Given the description of an element on the screen output the (x, y) to click on. 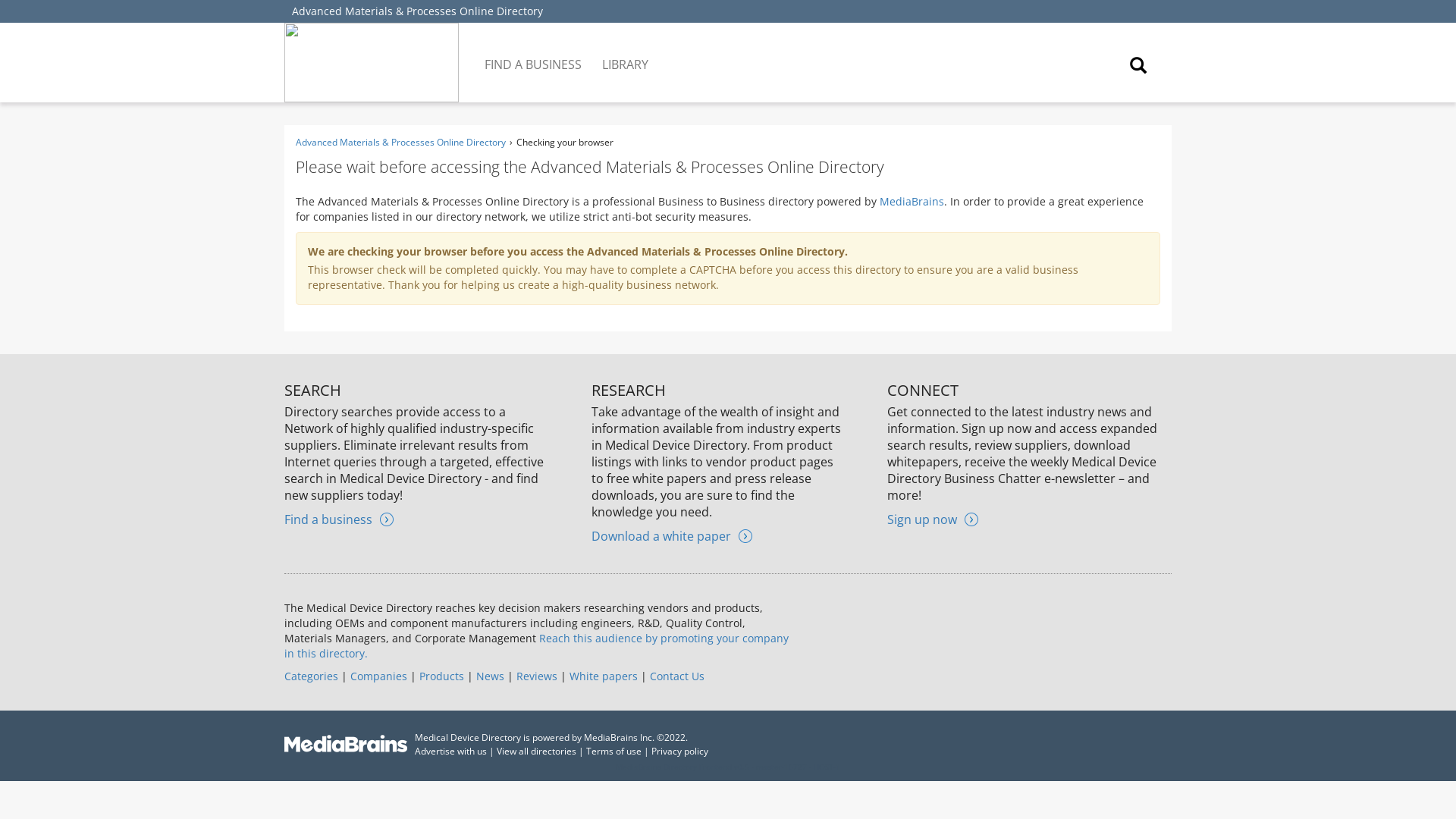
Terms of use (614, 750)
White papers (603, 676)
FIND A BUSINESS (534, 52)
Reviews (536, 676)
News (489, 676)
View all directories (536, 750)
LIBRARY (626, 52)
Products (441, 676)
Download a white paper (671, 535)
Advertise with us (450, 750)
Find a business (338, 519)
Privacy policy (678, 750)
Companies (378, 676)
Contact Us (676, 676)
